Given the description of an element on the screen output the (x, y) to click on. 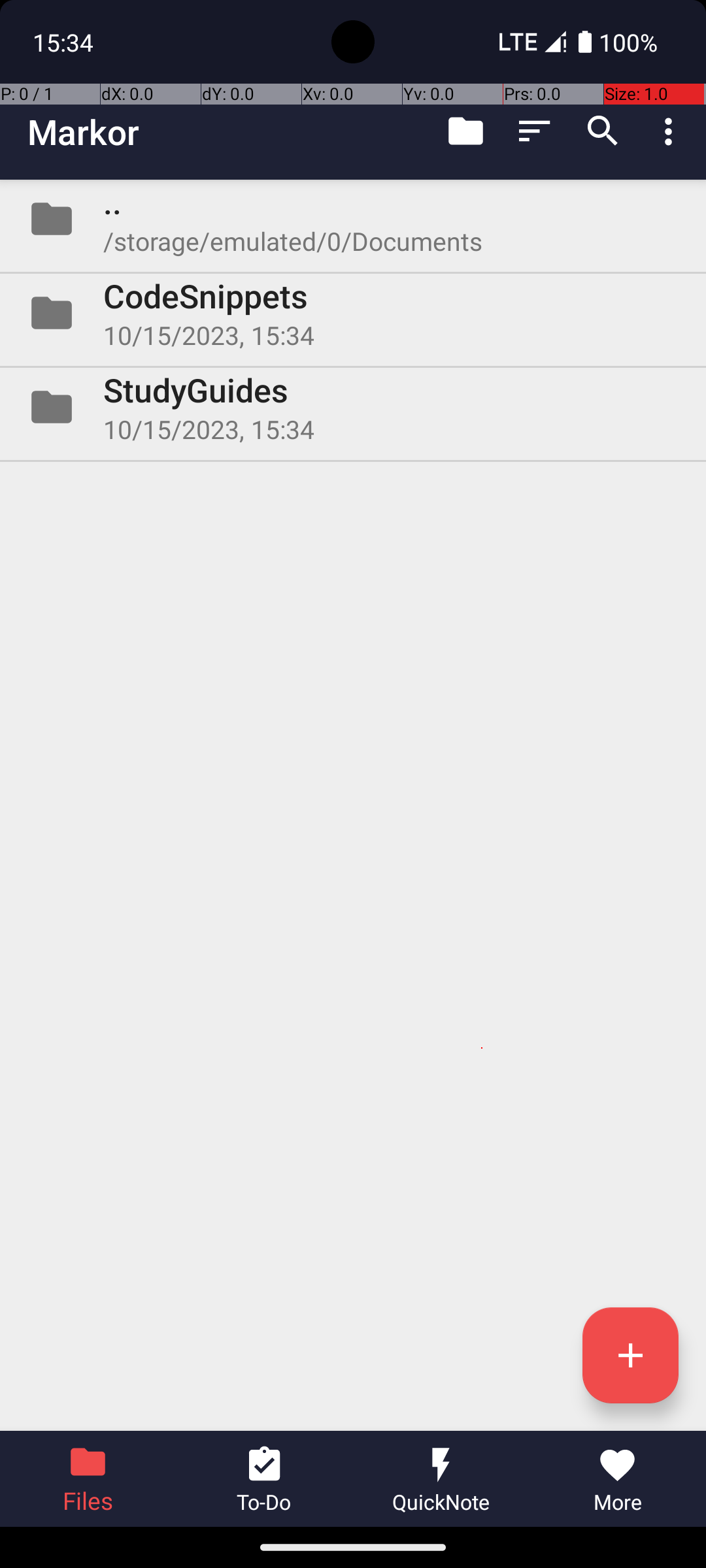
Folder CodeSnippets  Element type: android.widget.LinearLayout (353, 312)
Folder StudyGuides  Element type: android.widget.LinearLayout (353, 406)
